Given the description of an element on the screen output the (x, y) to click on. 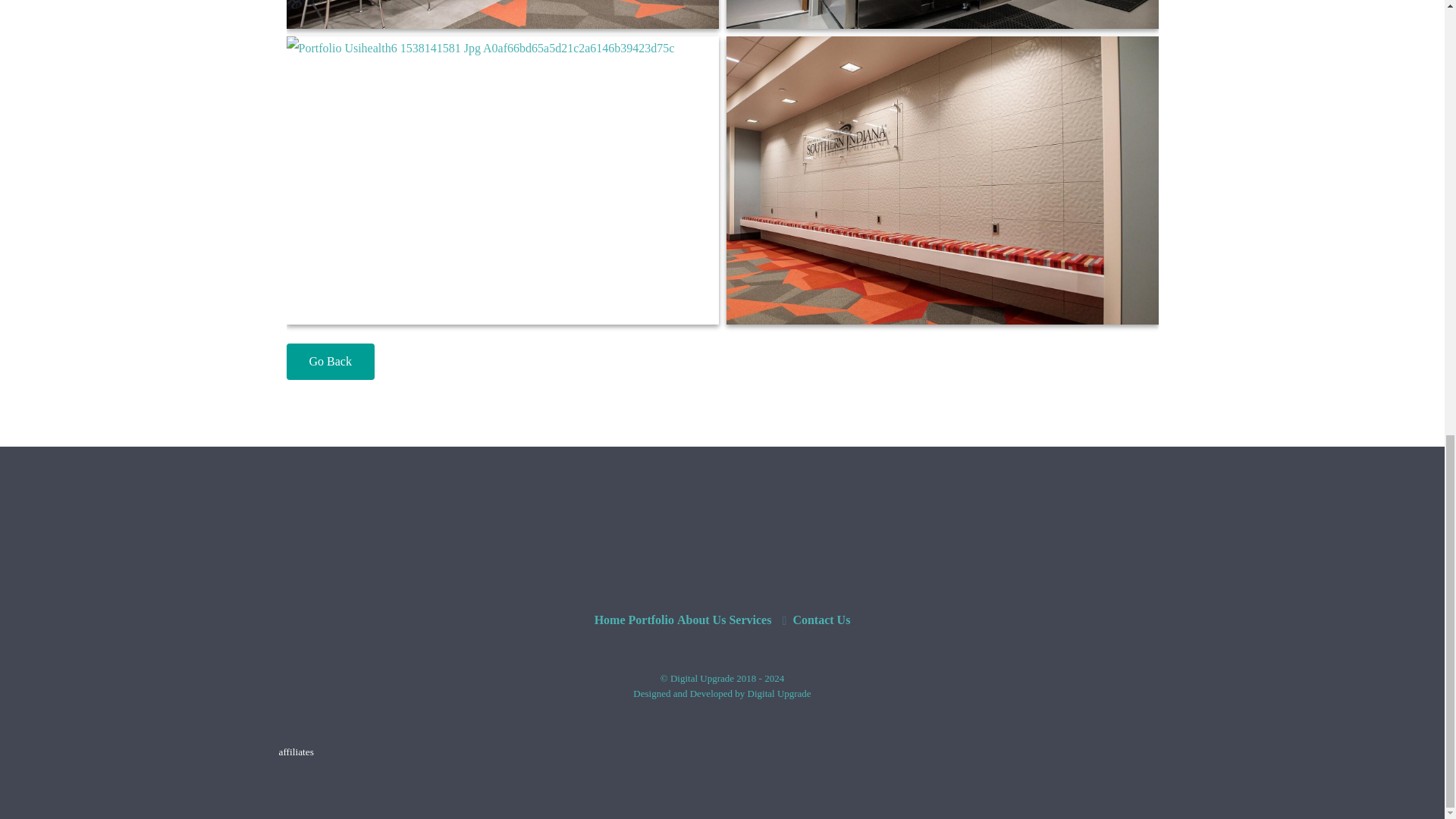
Home (610, 619)
About Us (701, 619)
Portfolio (649, 619)
Go Back (330, 361)
